Given the description of an element on the screen output the (x, y) to click on. 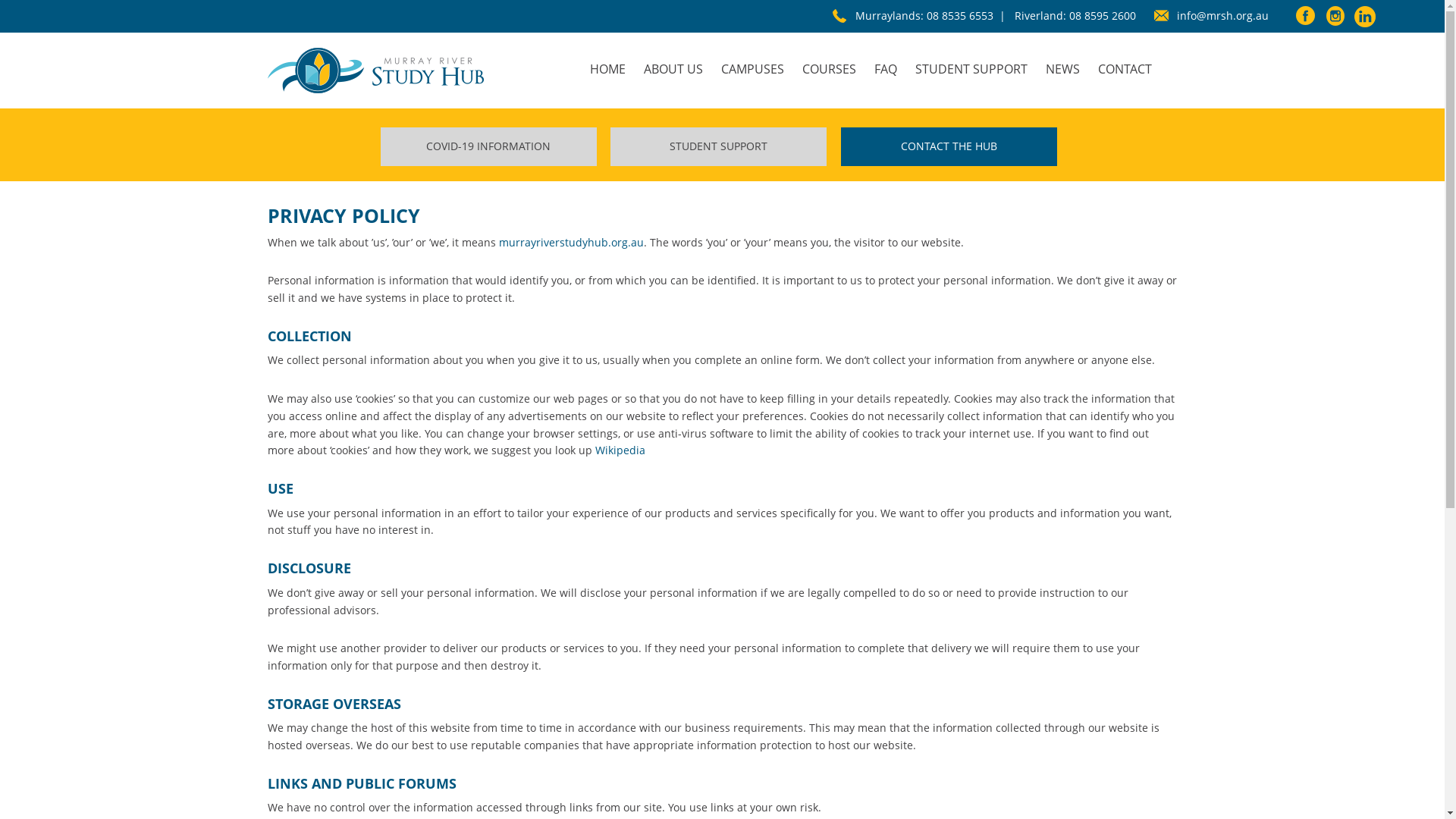
CONTACT THE HUB Element type: text (948, 145)
murrayriverstudyhub.org.au Element type: text (570, 242)
instagram Element type: text (1335, 19)
08 8595 2600 Element type: text (1102, 15)
Wikipedia Element type: text (619, 449)
Murray River Study Hub Element type: text (374, 70)
STUDENT SUPPORT Element type: text (970, 64)
linkedin Element type: text (1364, 19)
FAQ Element type: text (884, 64)
info@mrsh.org.au Element type: text (1222, 15)
CONTACT Element type: text (1124, 64)
COVID-19 INFORMATION Element type: text (488, 145)
facebook Element type: text (1305, 19)
STUDENT SUPPORT Element type: text (718, 145)
COURSES Element type: text (828, 64)
NEWS Element type: text (1061, 64)
ABOUT US Element type: text (672, 64)
CAMPUSES Element type: text (751, 64)
08 8535 6553 Element type: text (959, 15)
HOME Element type: text (607, 64)
